Given the description of an element on the screen output the (x, y) to click on. 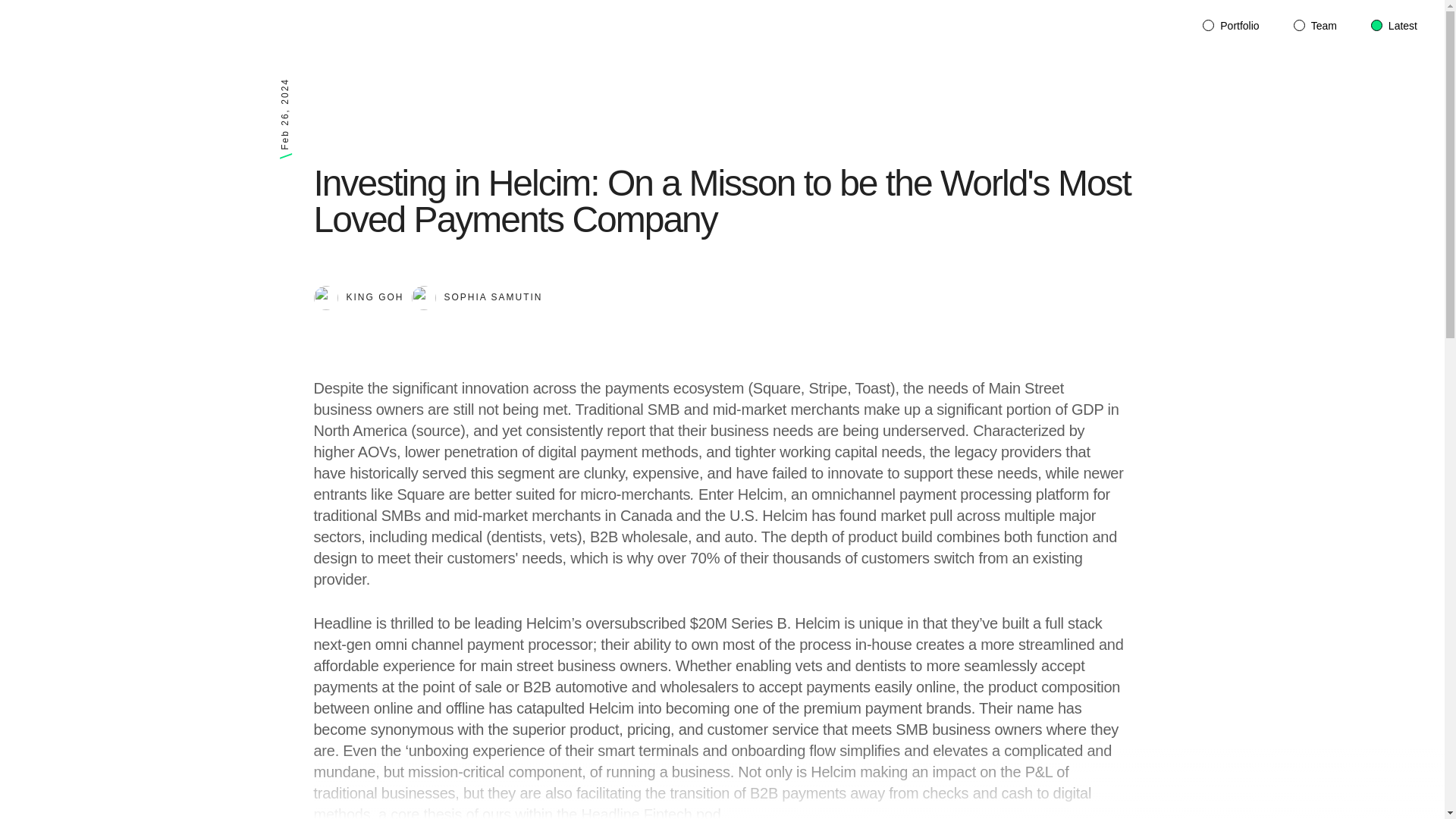
Team (1315, 25)
Portfolio (1230, 25)
Latest (1393, 25)
